Given the description of an element on the screen output the (x, y) to click on. 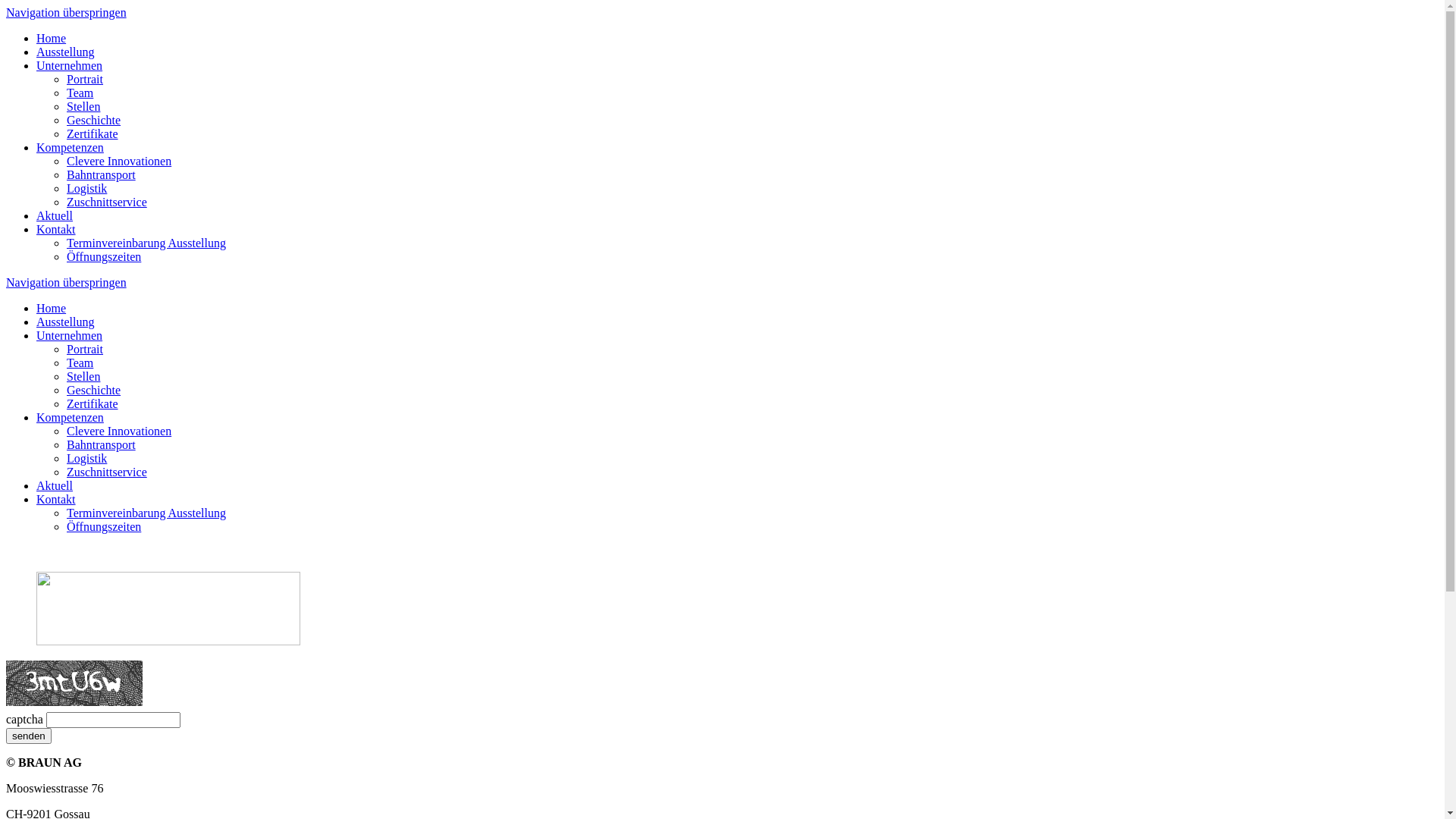
Zuschnittservice Element type: text (106, 471)
Kompetenzen Element type: text (69, 147)
Team Element type: text (79, 362)
Ausstellung Element type: text (65, 51)
Terminvereinbarung Ausstellung Element type: text (145, 242)
Geschichte Element type: text (93, 119)
Ausstellung Element type: text (65, 321)
Zuschnittservice Element type: text (106, 201)
Aktuell Element type: text (54, 215)
  Element type: text (7, 552)
Home Element type: text (50, 37)
Zertifikate Element type: text (92, 133)
Bahntransport Element type: text (100, 174)
Terminvereinbarung Ausstellung Element type: text (145, 512)
Unternehmen Element type: text (69, 65)
Braun AG Element type: hover (168, 640)
Logistik Element type: text (86, 457)
Aktuell Element type: text (54, 485)
Unternehmen Element type: text (69, 335)
Portrait Element type: text (84, 348)
Kontakt Element type: text (55, 498)
Clevere Innovationen Element type: text (118, 430)
Stellen Element type: text (83, 376)
Kontakt Element type: text (55, 228)
Bahntransport Element type: text (100, 444)
Geschichte Element type: text (93, 389)
Team Element type: text (79, 92)
senden Element type: text (28, 735)
Stellen Element type: text (83, 106)
Clevere Innovationen Element type: text (118, 160)
Kompetenzen Element type: text (69, 417)
Logistik Element type: text (86, 188)
Home Element type: text (50, 307)
Portrait Element type: text (84, 78)
Zertifikate Element type: text (92, 403)
